Given the description of an element on the screen output the (x, y) to click on. 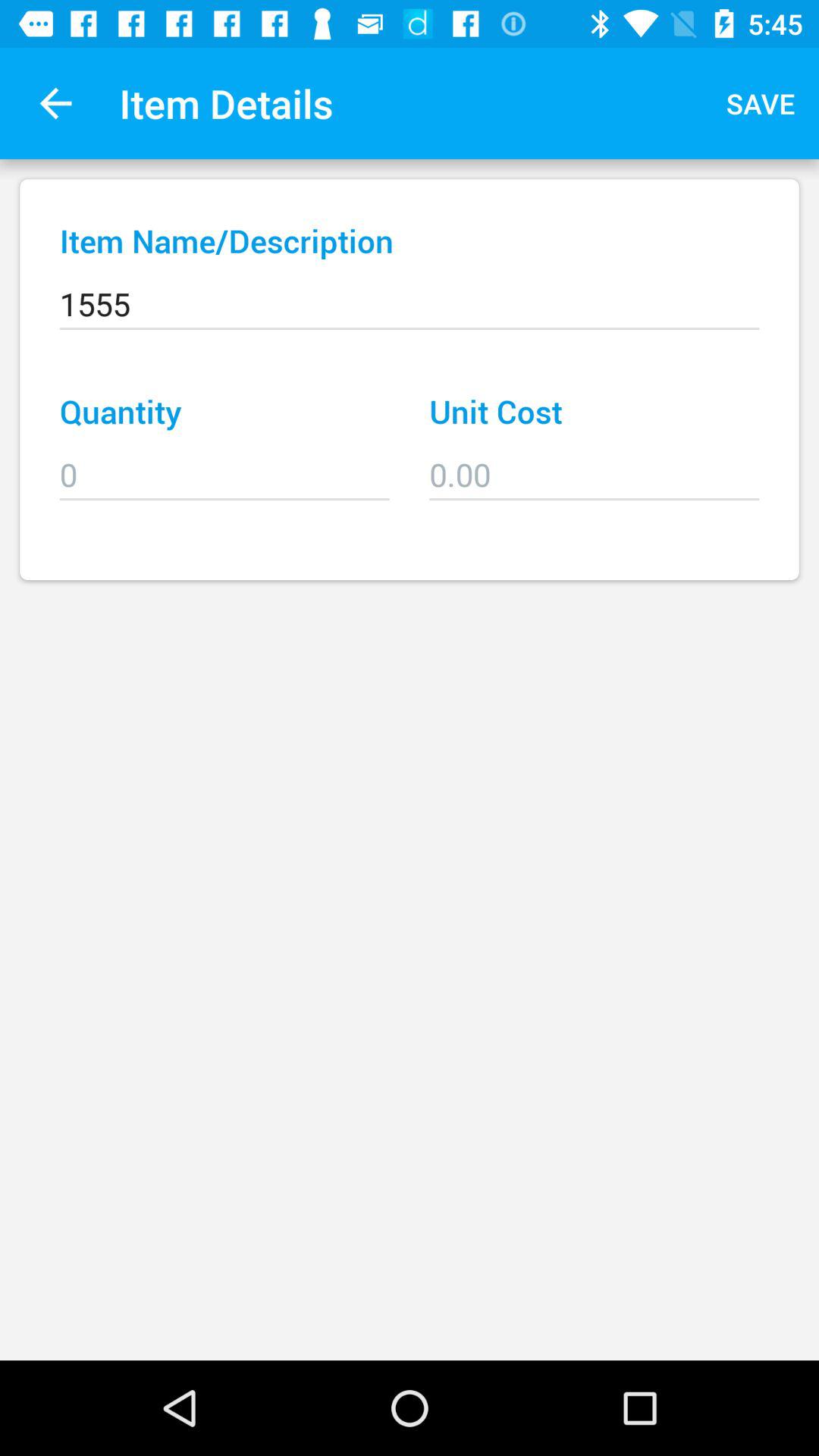
turn off the item next to item details icon (760, 103)
